Given the description of an element on the screen output the (x, y) to click on. 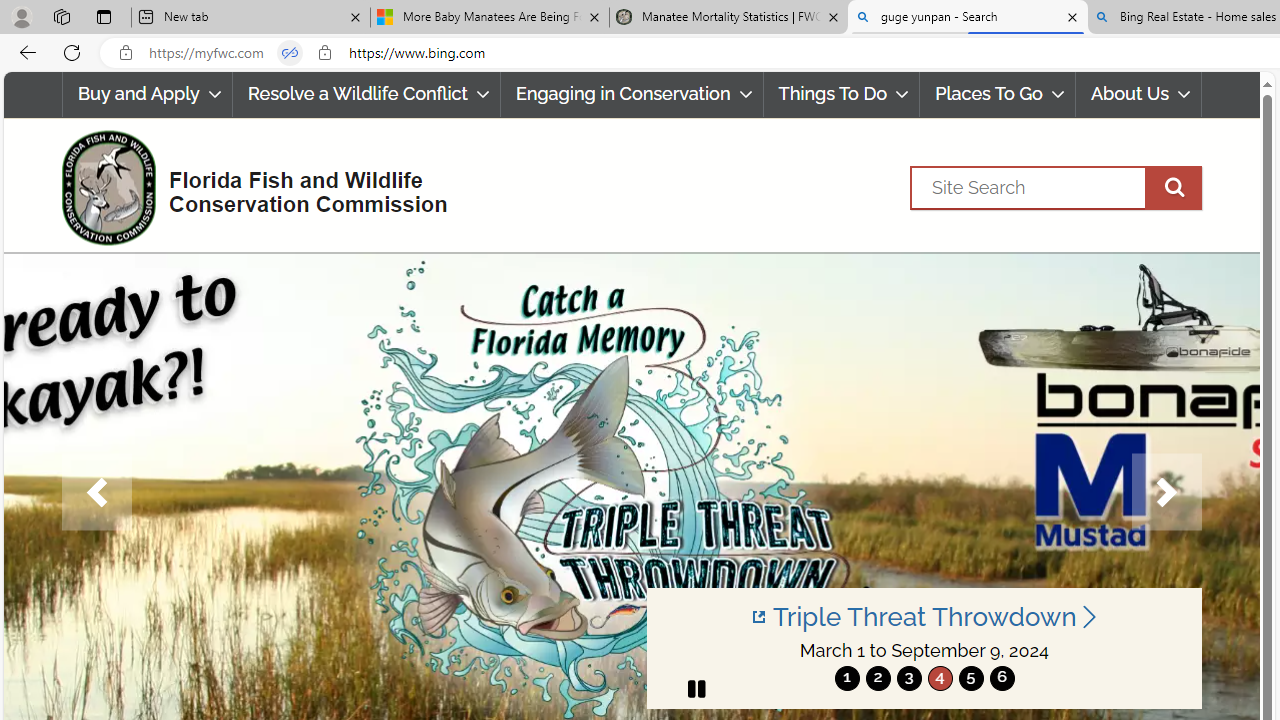
1 (847, 678)
About Us (1138, 94)
move to slide 3 (908, 678)
Engaging in Conservation (631, 94)
Places To Go (997, 94)
move to slide 2 (877, 678)
View site information (324, 53)
Triple Threat Throwdown  (924, 616)
Back (24, 52)
Things To Do (841, 94)
6 (1002, 678)
Engaging in Conservation (632, 94)
5 (970, 678)
Personal Profile (21, 16)
